Given the description of an element on the screen output the (x, y) to click on. 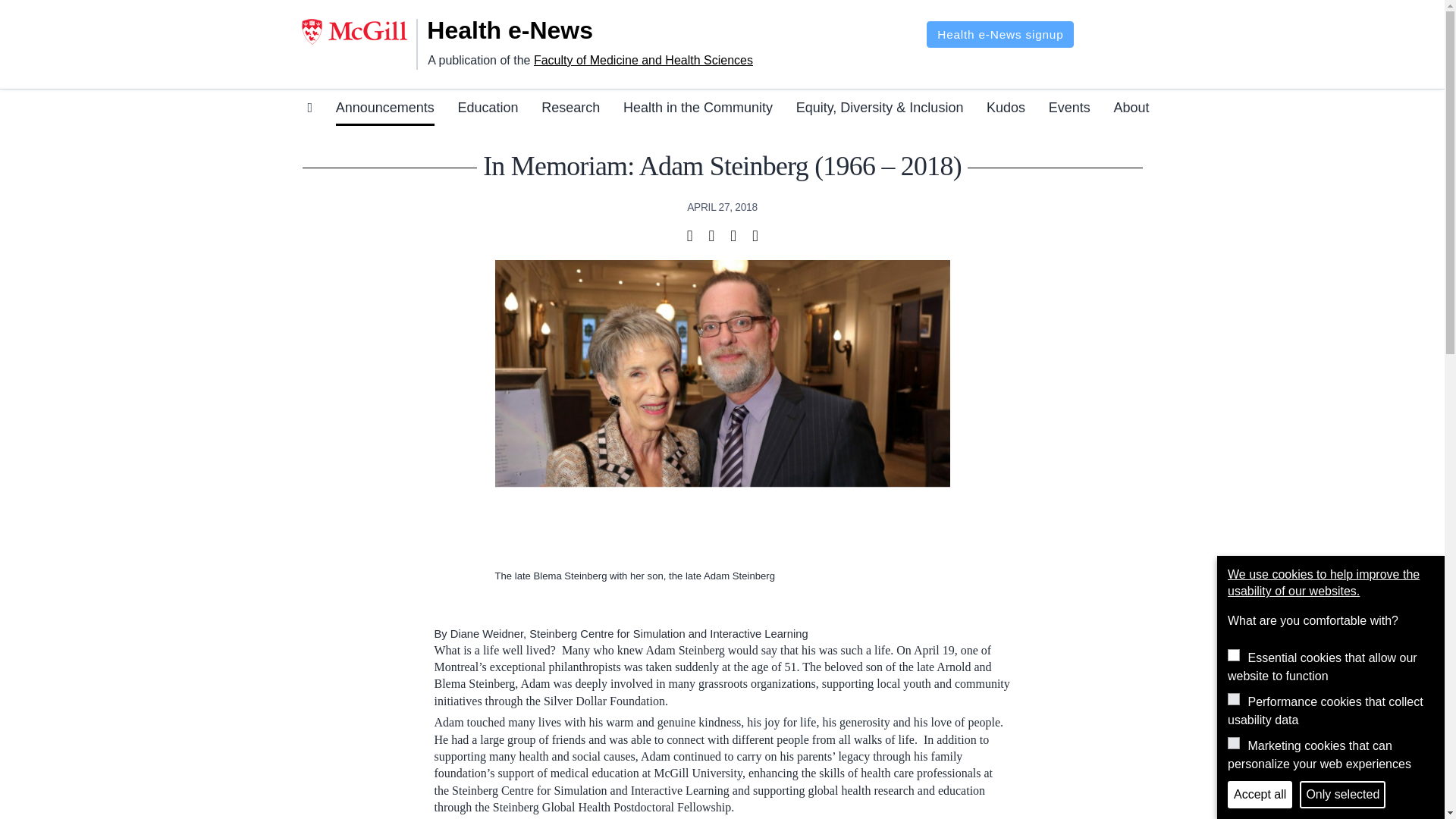
About (1130, 110)
Events (1069, 110)
McGill University (358, 31)
Home (529, 30)
Health in the Community (698, 110)
Research (570, 110)
Health e-News signup (1000, 34)
required (1233, 654)
Education (487, 110)
Announcements (384, 110)
